Given the description of an element on the screen output the (x, y) to click on. 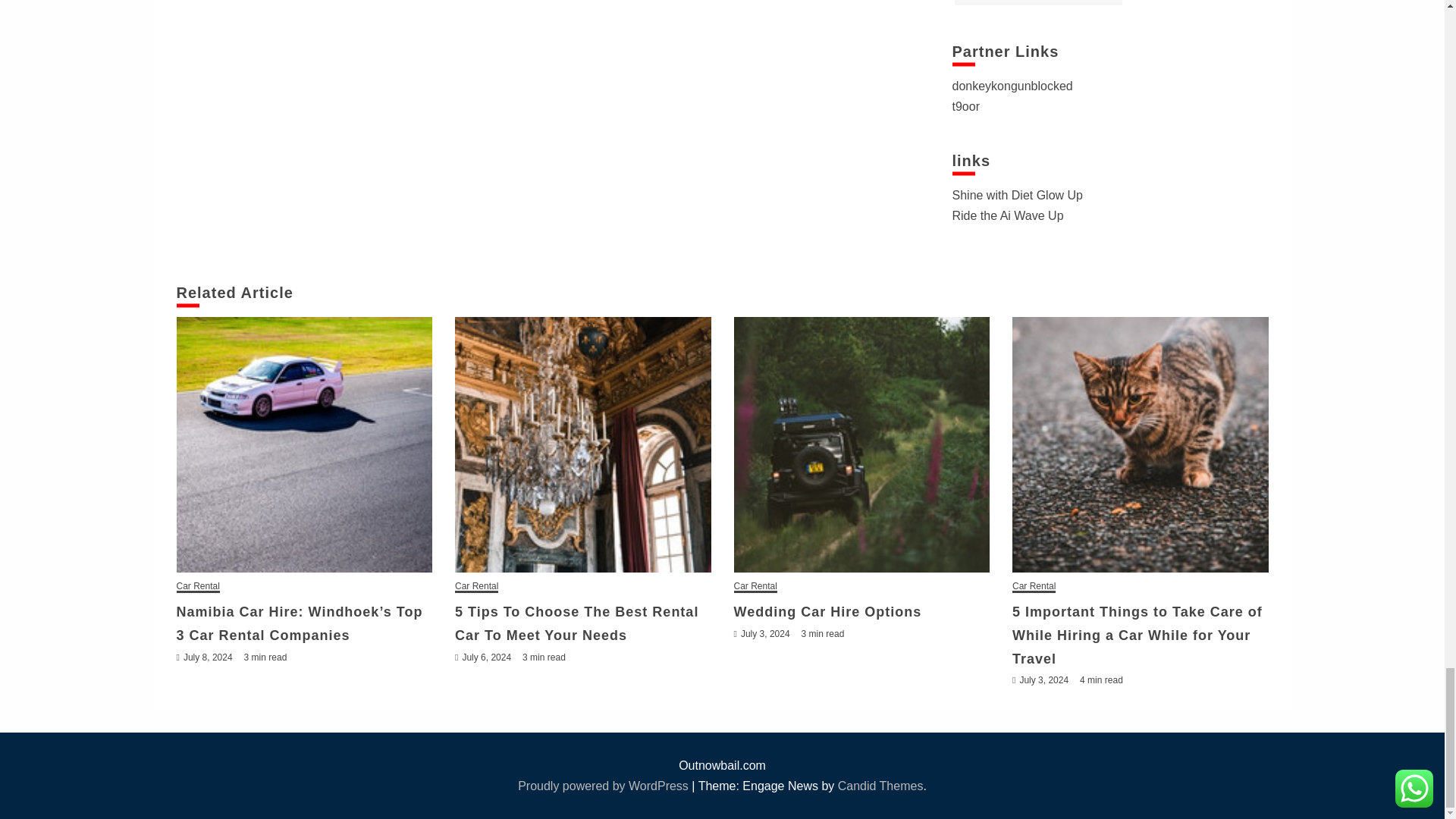
Wedding Car Hire Options (861, 444)
5 Tips To Choose The Best Rental Car To Meet Your Needs (582, 444)
